Given the description of an element on the screen output the (x, y) to click on. 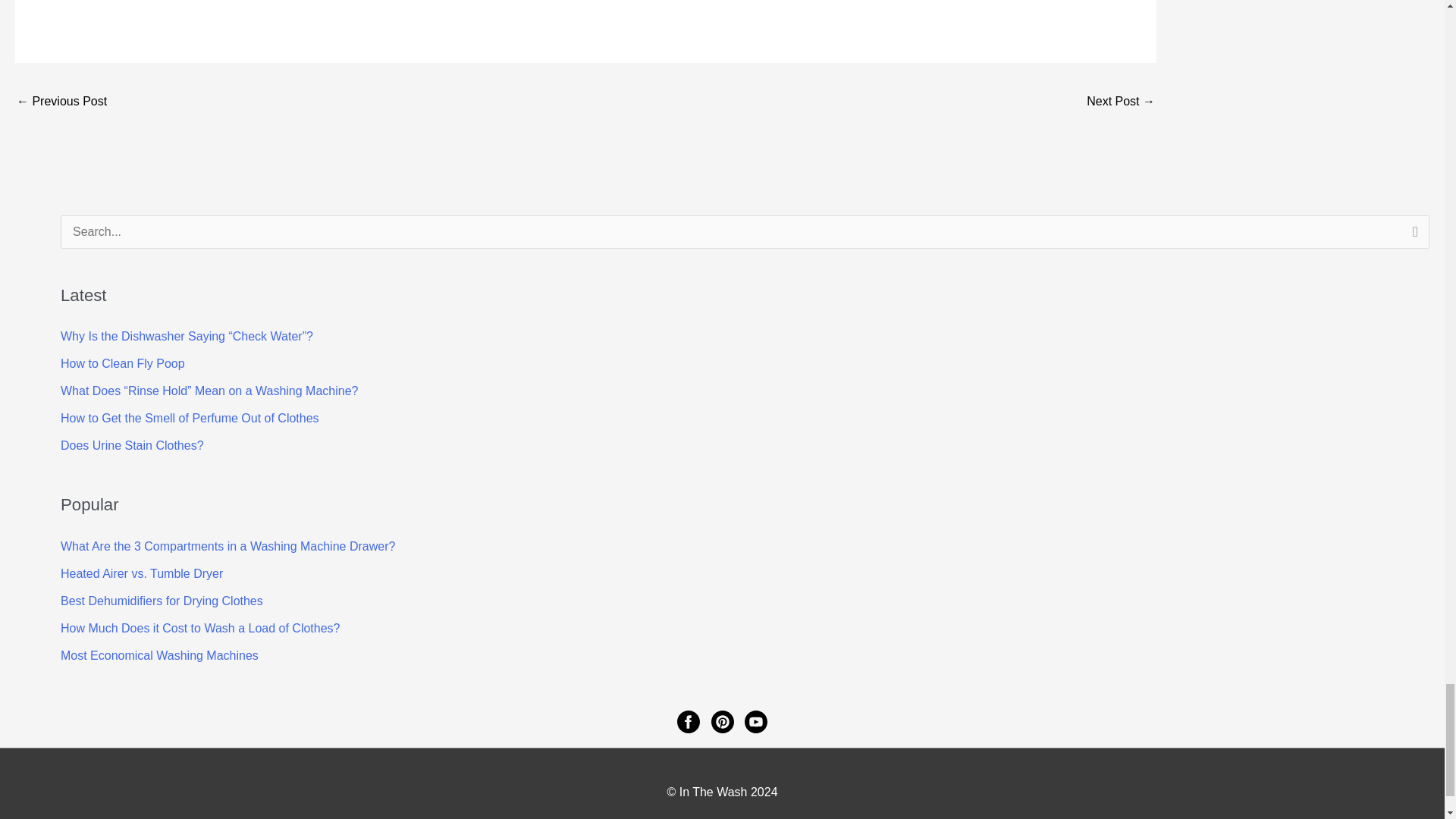
Does Urine Stain Clothes? (132, 445)
How to Get the Smell of Perfume Out of Clothes (189, 418)
How to Get Wax Out of a Candle Jar (61, 102)
How to Clean Fly Poop (122, 363)
